Given the description of an element on the screen output the (x, y) to click on. 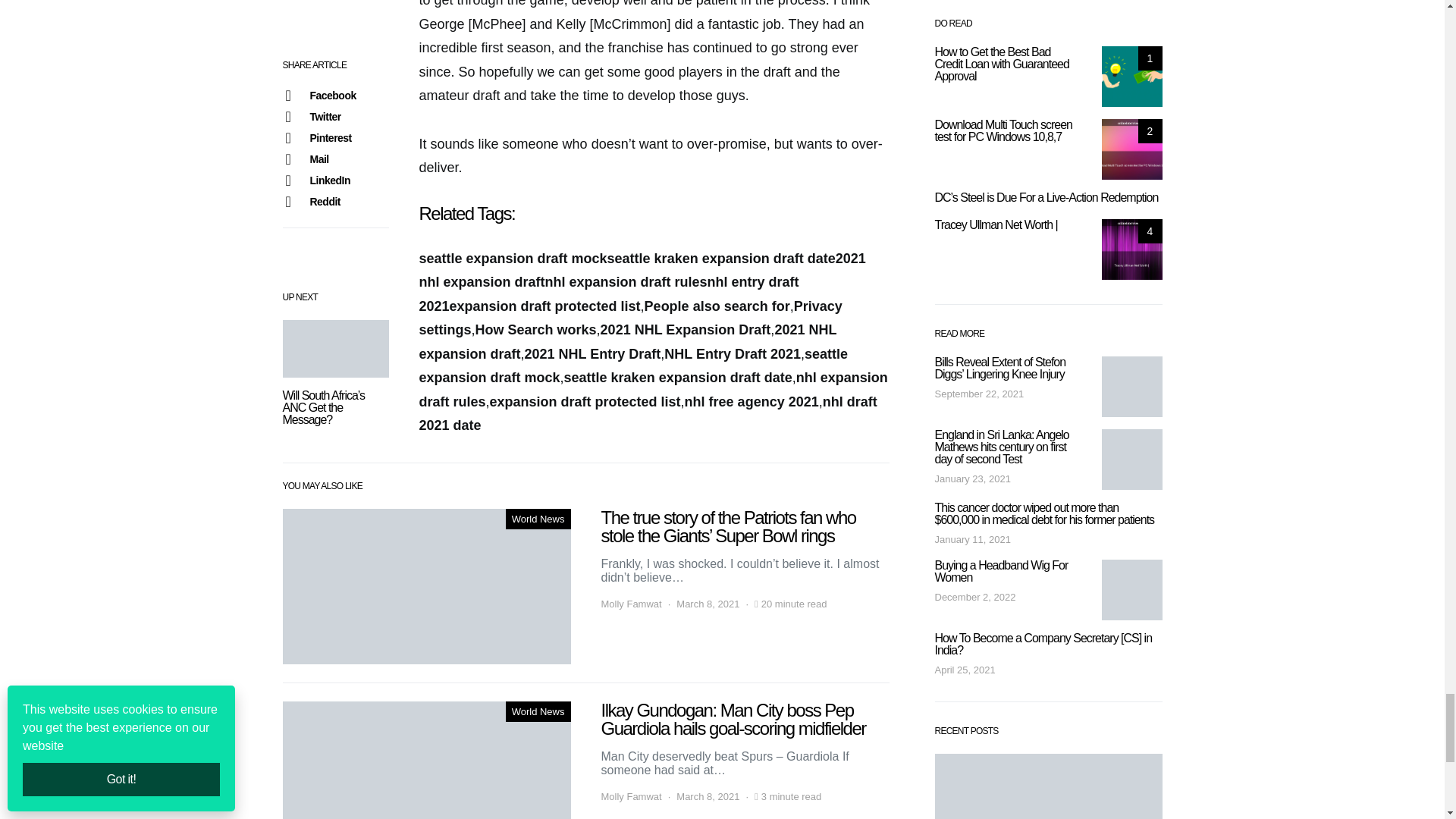
World News (537, 711)
Molly Famwat (630, 603)
World News (537, 518)
Molly Famwat (630, 796)
View all posts by Molly Famwat (630, 796)
View all posts by Molly Famwat (630, 603)
